Given the description of an element on the screen output the (x, y) to click on. 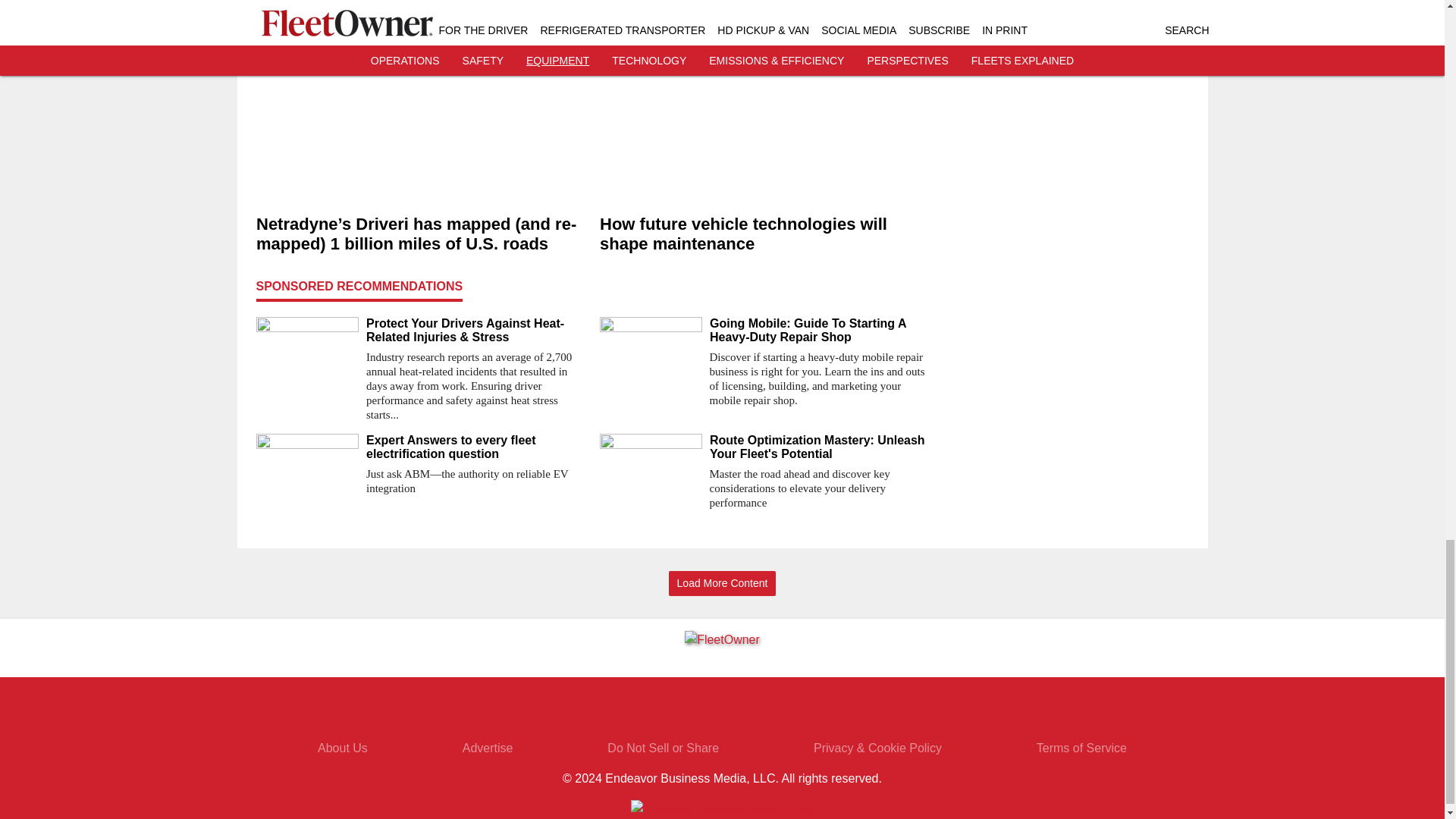
How future vehicle technologies will shape maintenance (764, 233)
Going Mobile: Guide To Starting A Heavy-Duty Repair Shop (820, 329)
